Given the description of an element on the screen output the (x, y) to click on. 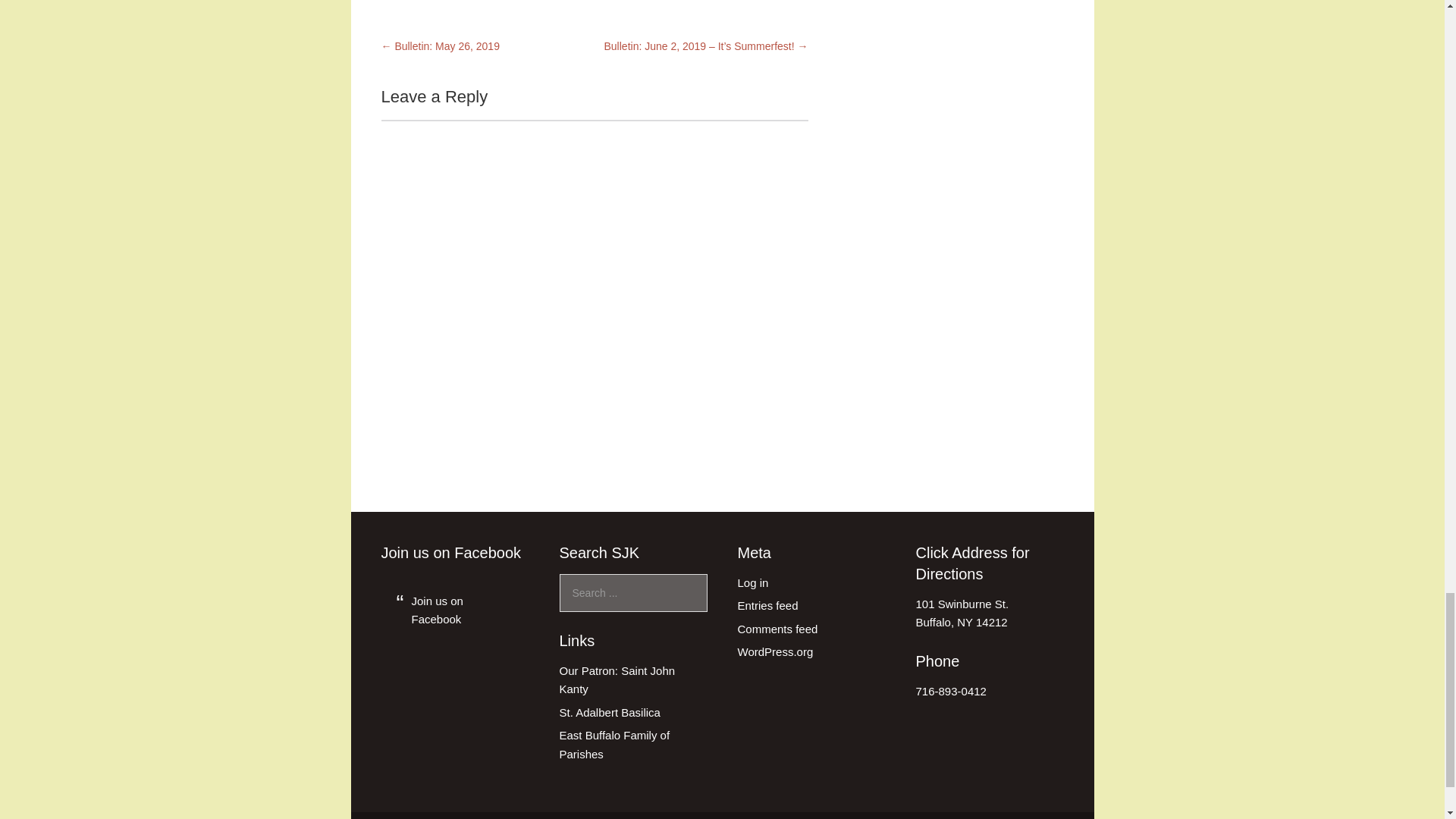
Search for: (633, 592)
Our Patron: Saint John Kanty (617, 679)
St. Adalbert Basilica (610, 712)
Entries feed (766, 604)
Log in (752, 582)
WordPress.org (774, 651)
Search (962, 612)
